Given the description of an element on the screen output the (x, y) to click on. 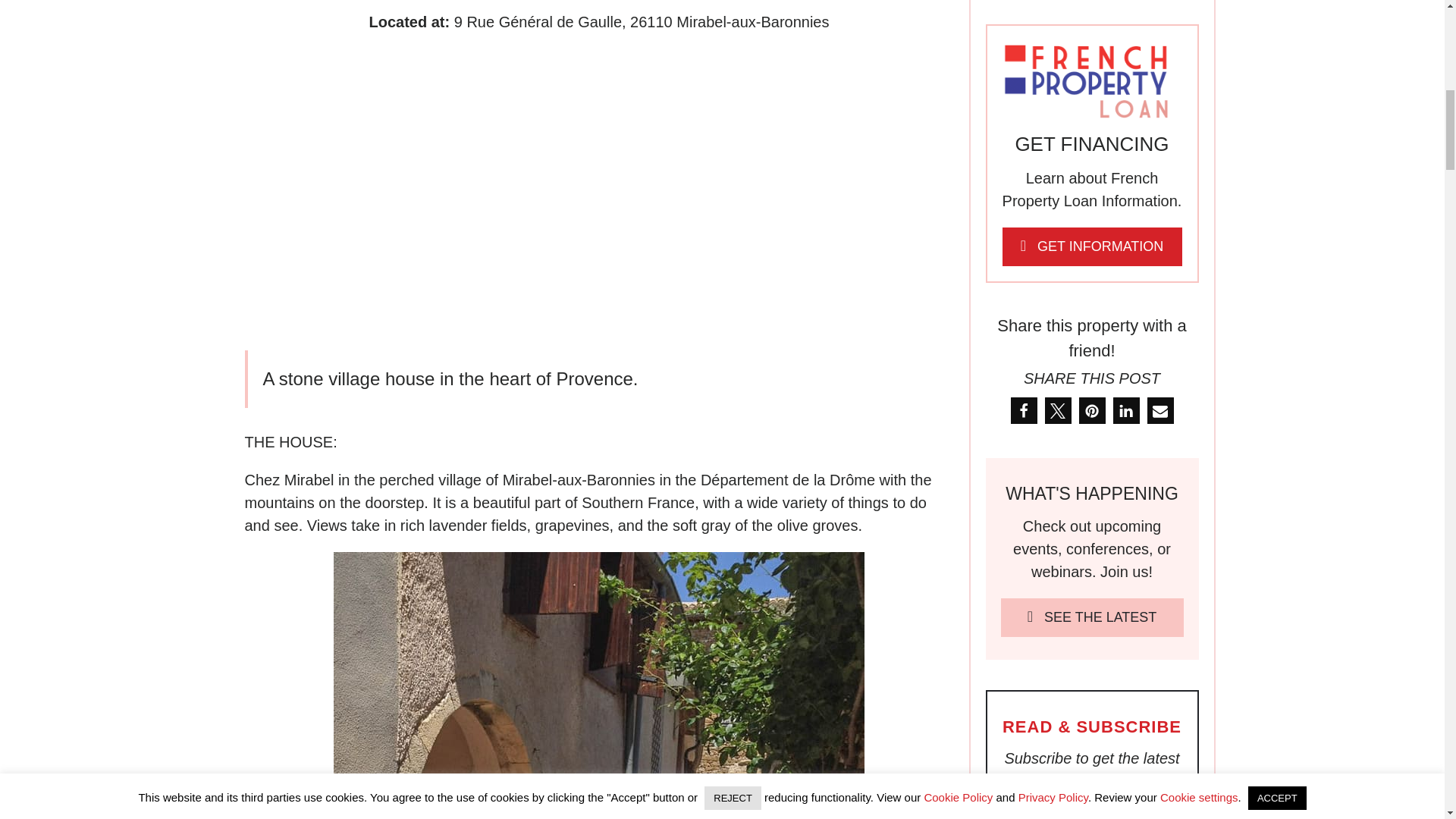
Send by email (1160, 410)
Share on X (1058, 410)
Share on Facebook (1023, 410)
Pin it on Pinterest (1091, 410)
Share on LinkedIn (1126, 410)
